Given the description of an element on the screen output the (x, y) to click on. 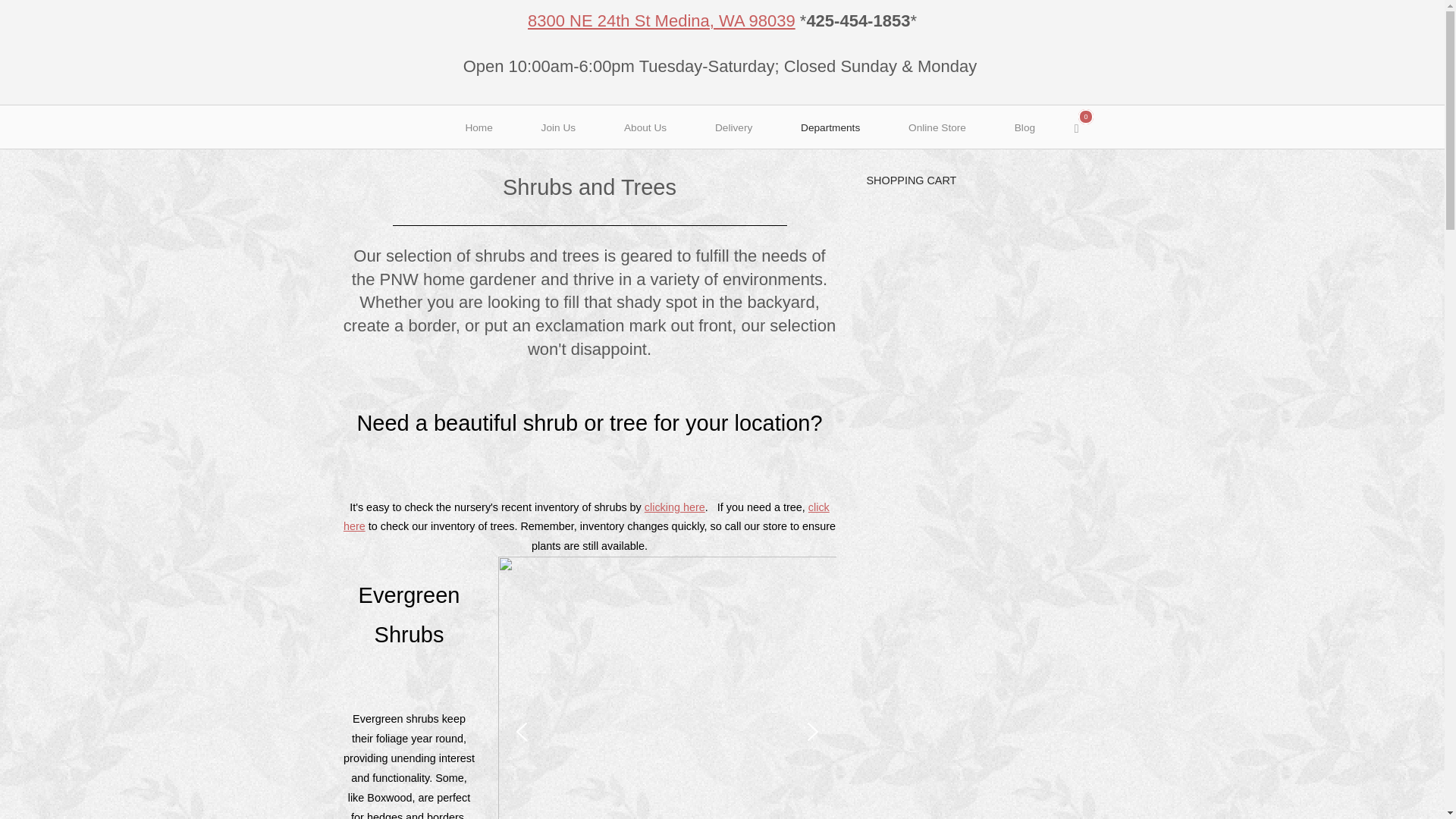
Blog (1024, 127)
Inventory: Shrubs (674, 507)
8300 NE 24th St Medina, WA 98039 (660, 20)
click here (586, 517)
Home (478, 127)
Online Store (1085, 127)
Join Us (936, 127)
About Us (558, 127)
Inventory: Trees (644, 127)
Departments (586, 517)
Delivery (829, 127)
clicking here (733, 127)
